Given the description of an element on the screen output the (x, y) to click on. 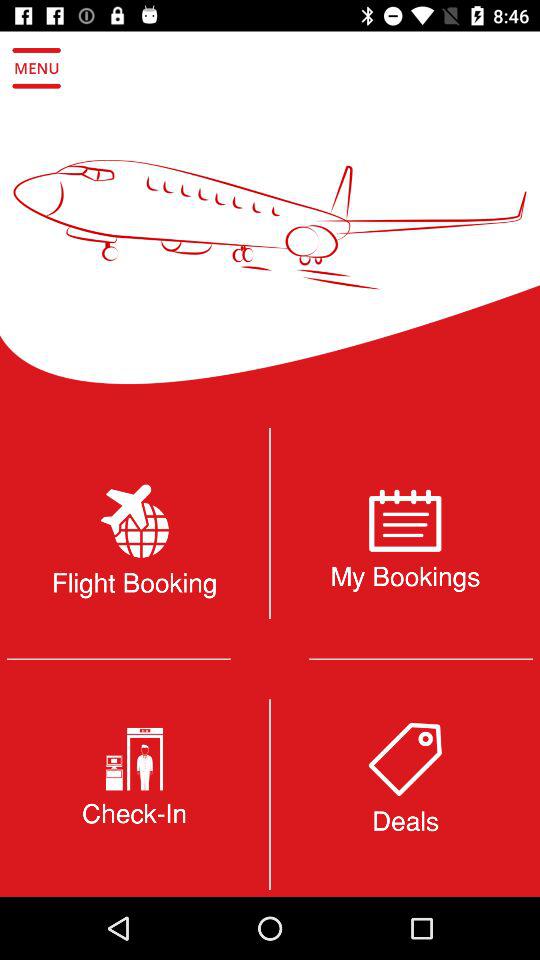
toggle menu option (36, 68)
